Given the description of an element on the screen output the (x, y) to click on. 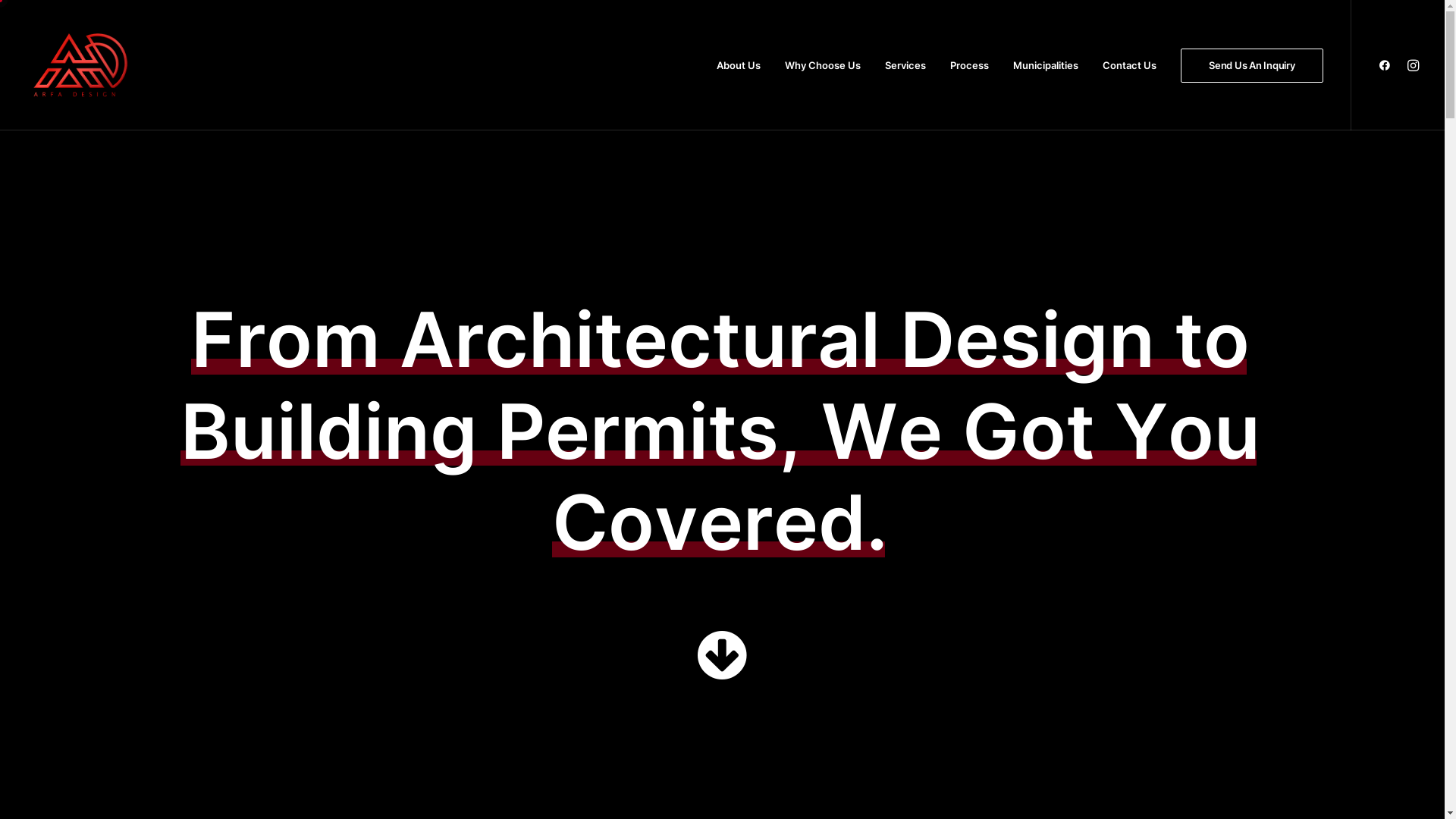
Process Element type: text (969, 65)
Contact Us Element type: text (1129, 65)
Send Us An Inquiry Element type: text (1246, 65)
Why Choose Us Element type: text (822, 65)
About Us Element type: text (738, 65)
Services Element type: text (905, 65)
Municipalities Element type: text (1045, 65)
